Given the description of an element on the screen output the (x, y) to click on. 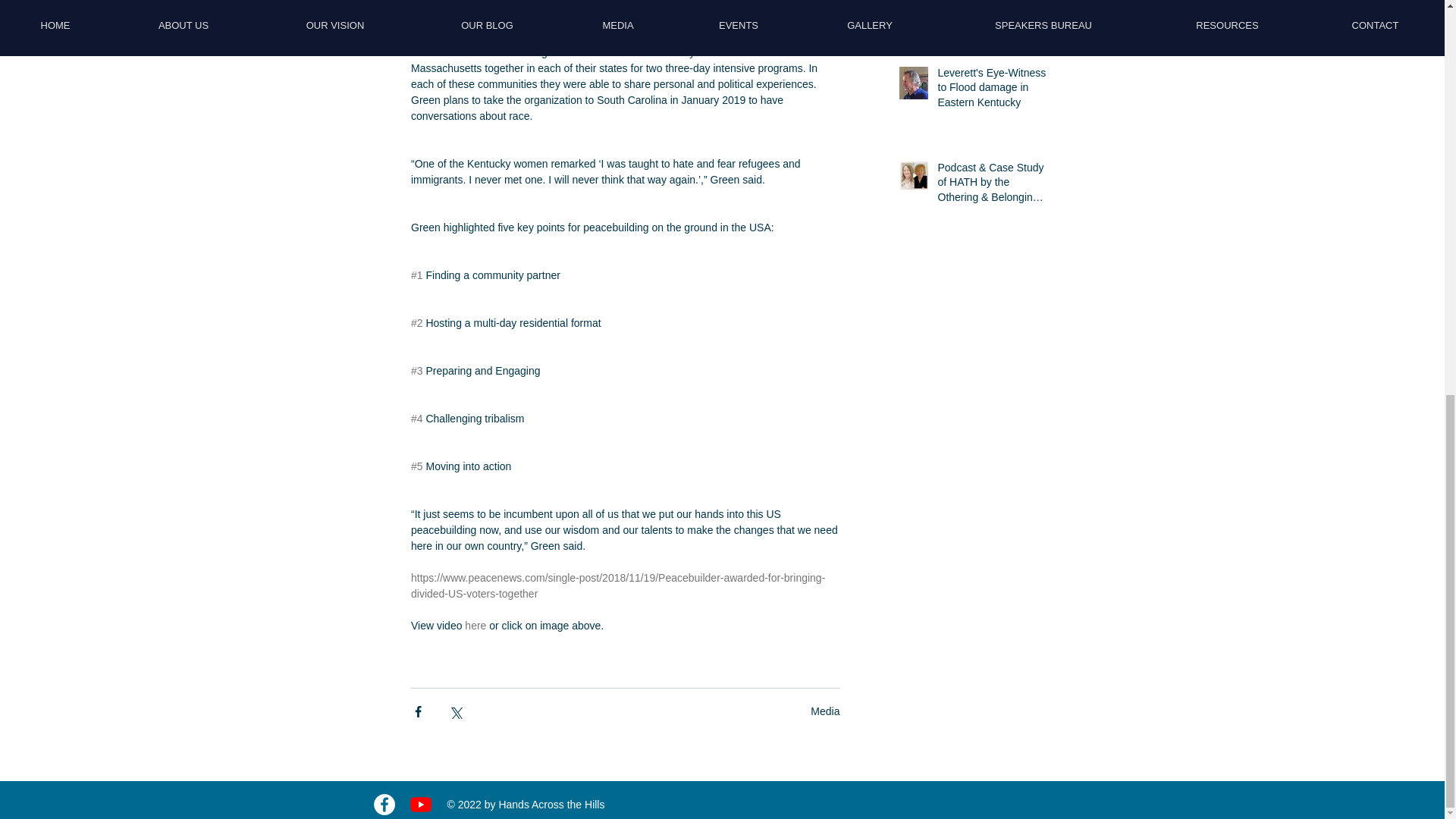
Media (825, 711)
here (475, 625)
Successful fundraiser for eastern KY flood relief (991, 13)
Leverett's Eye-Witness to Flood damage in Eastern Kentucky (991, 91)
